Given the description of an element on the screen output the (x, y) to click on. 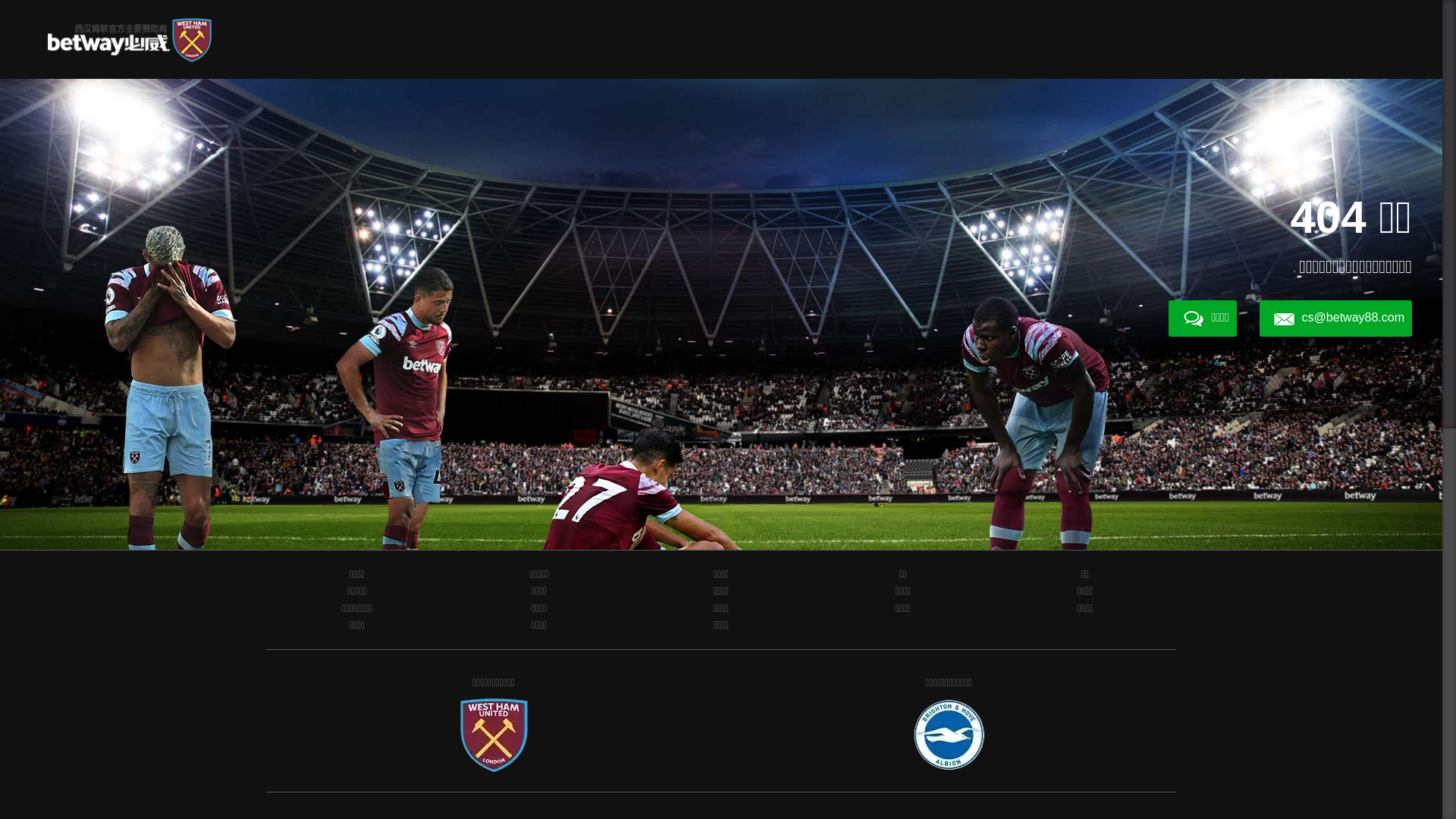
cs@betway88.com Element type: text (1335, 318)
